Given the description of an element on the screen output the (x, y) to click on. 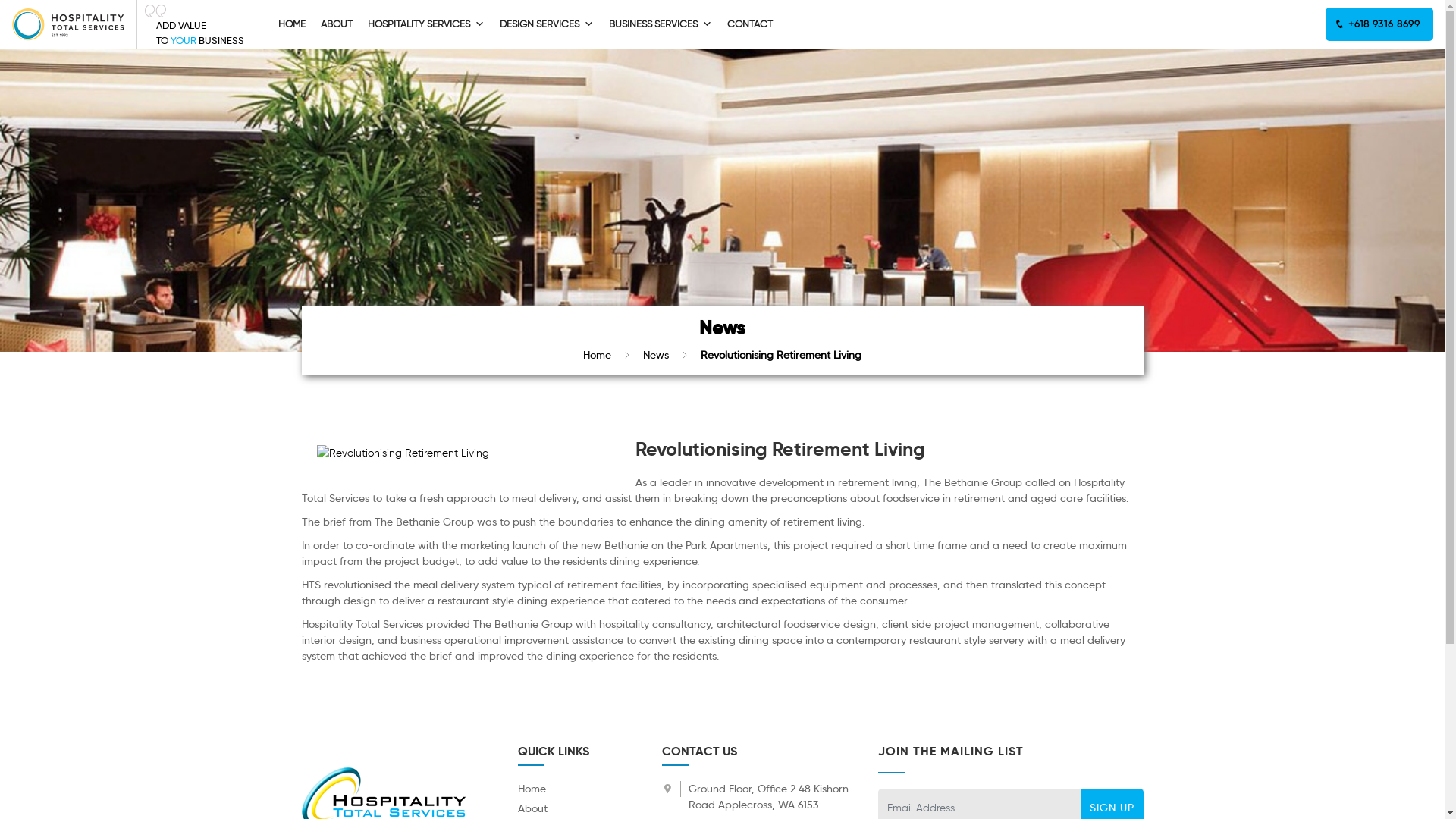
CONTACT Element type: text (749, 24)
hospitalitytotalservices Element type: hover (68, 23)
Home Element type: text (597, 354)
HOSPITALITY SERVICES Element type: text (426, 24)
+618 9316 8699 Element type: text (1379, 23)
About Element type: text (531, 808)
BUSINESS SERVICES Element type: text (660, 24)
News Element type: text (655, 354)
ABOUT Element type: text (336, 24)
DESIGN SERVICES Element type: text (546, 24)
HOME Element type: text (291, 24)
Home Element type: text (531, 789)
